Given the description of an element on the screen output the (x, y) to click on. 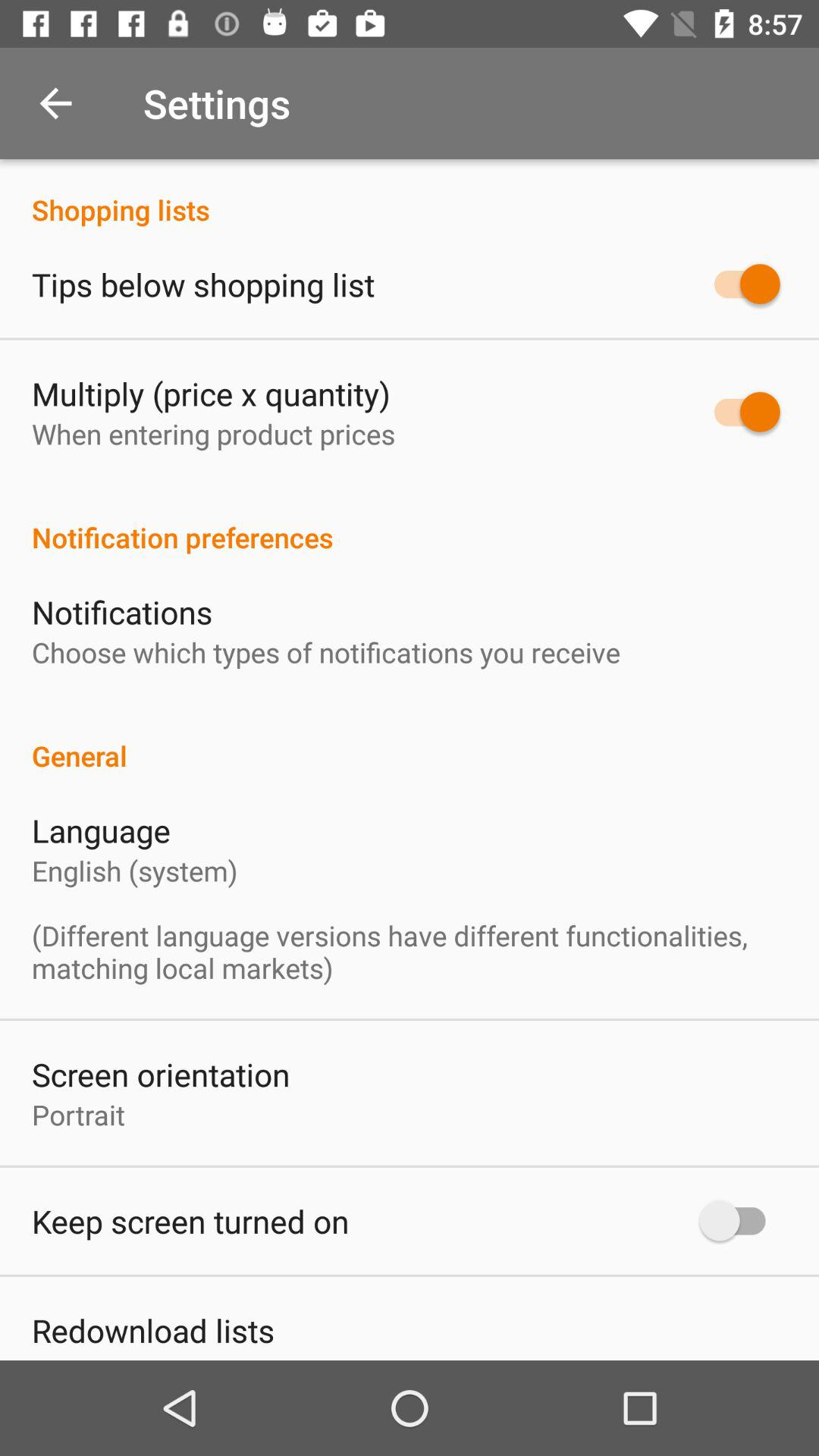
click item above redownload lists (190, 1220)
